Given the description of an element on the screen output the (x, y) to click on. 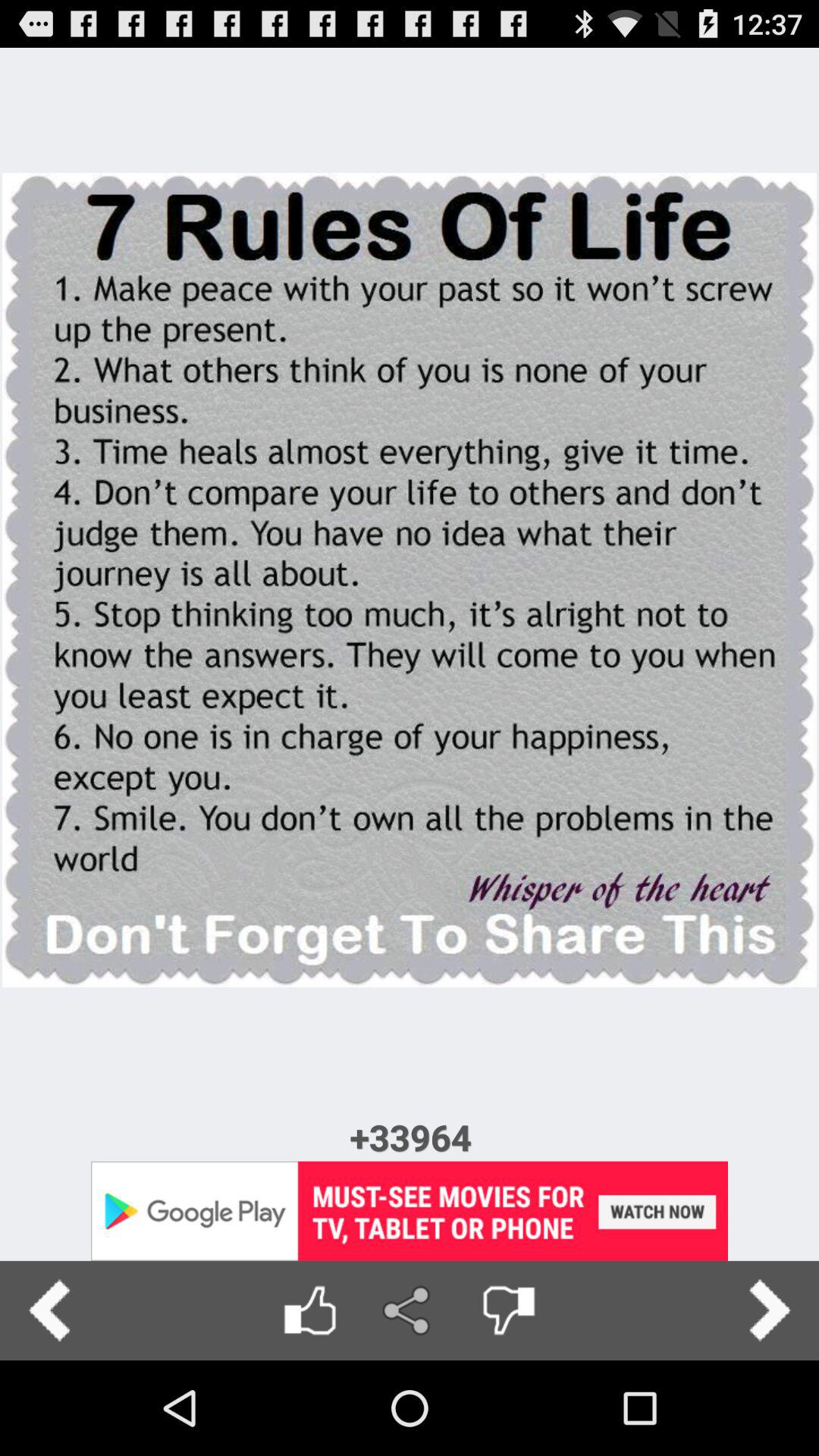
share page (408, 1310)
